Given the description of an element on the screen output the (x, y) to click on. 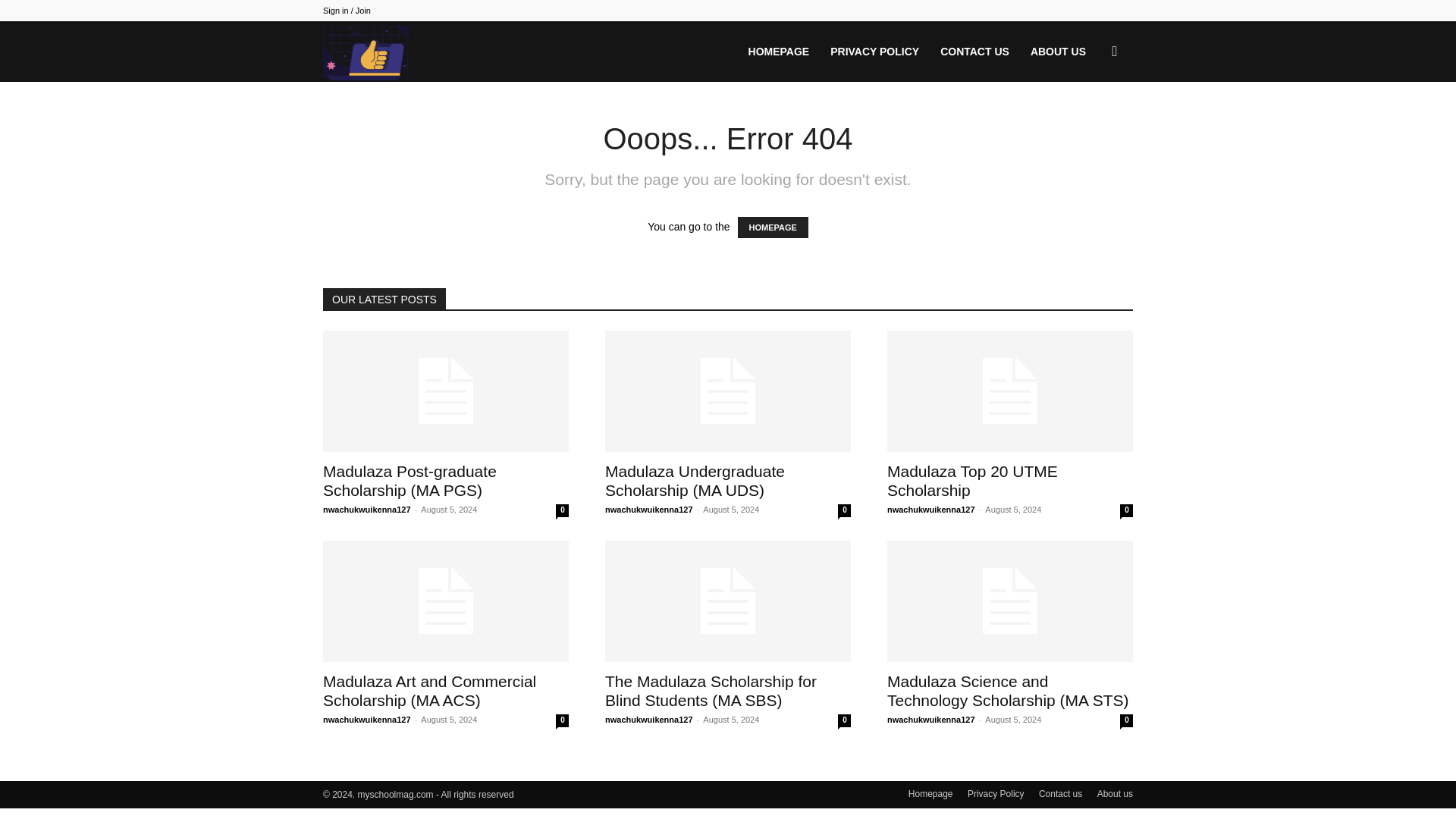
CONTACT US (975, 51)
Search (1091, 124)
nwachukwuikenna127 (649, 509)
0 (844, 510)
0 (562, 510)
nwachukwuikenna127 (930, 509)
nwachukwuikenna127 (366, 718)
Madulaza Top 20 UTME Scholarship (1009, 391)
HOMEPAGE (779, 51)
Madulaza Top 20 UTME Scholarship (972, 480)
